Given the description of an element on the screen output the (x, y) to click on. 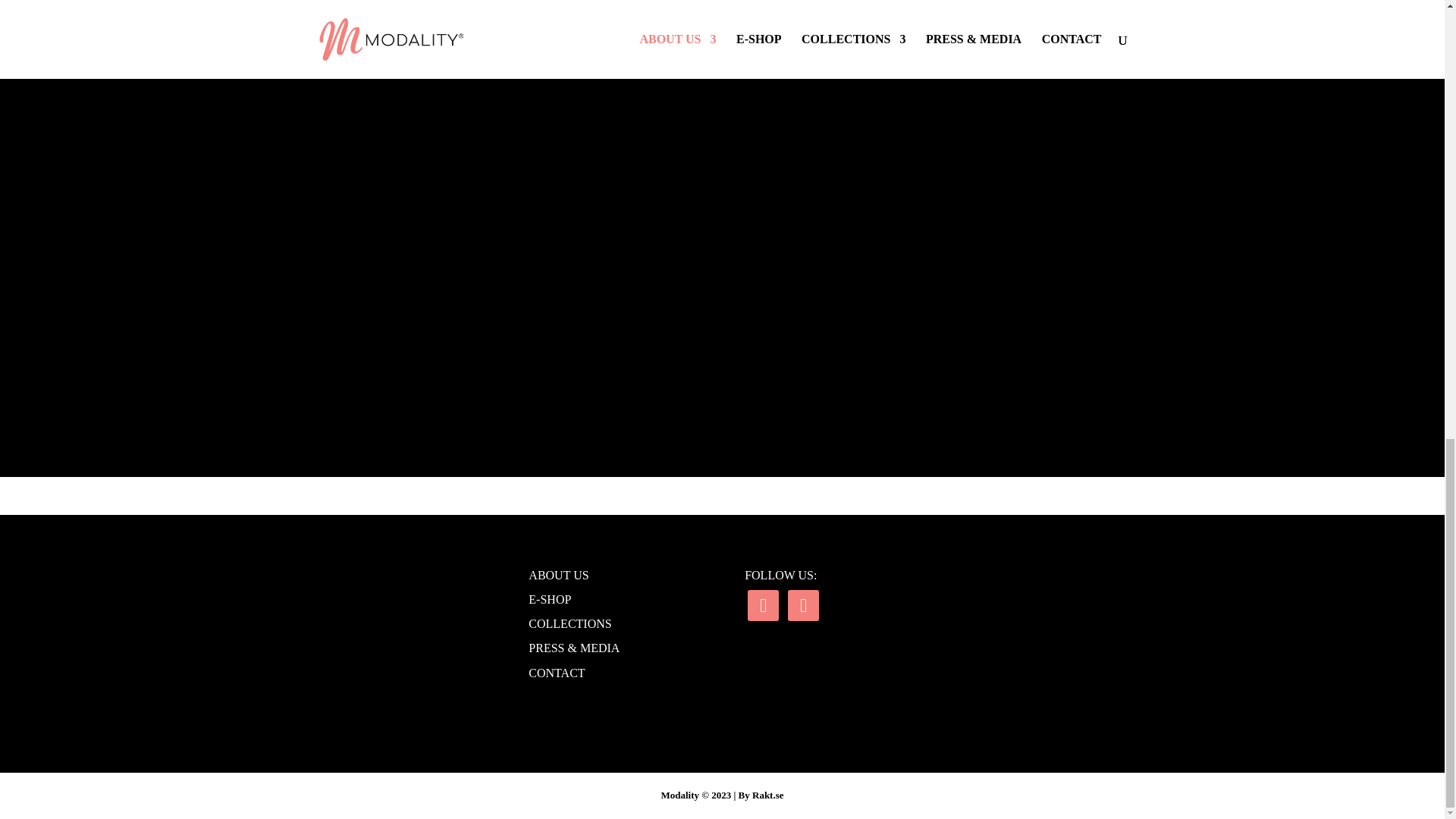
E-SHOP (549, 599)
CONTACT (556, 672)
instagram (763, 604)
Instagram (763, 604)
linkedin (802, 604)
COLLECTIONS (569, 623)
ABOUT US (558, 574)
